Given the description of an element on the screen output the (x, y) to click on. 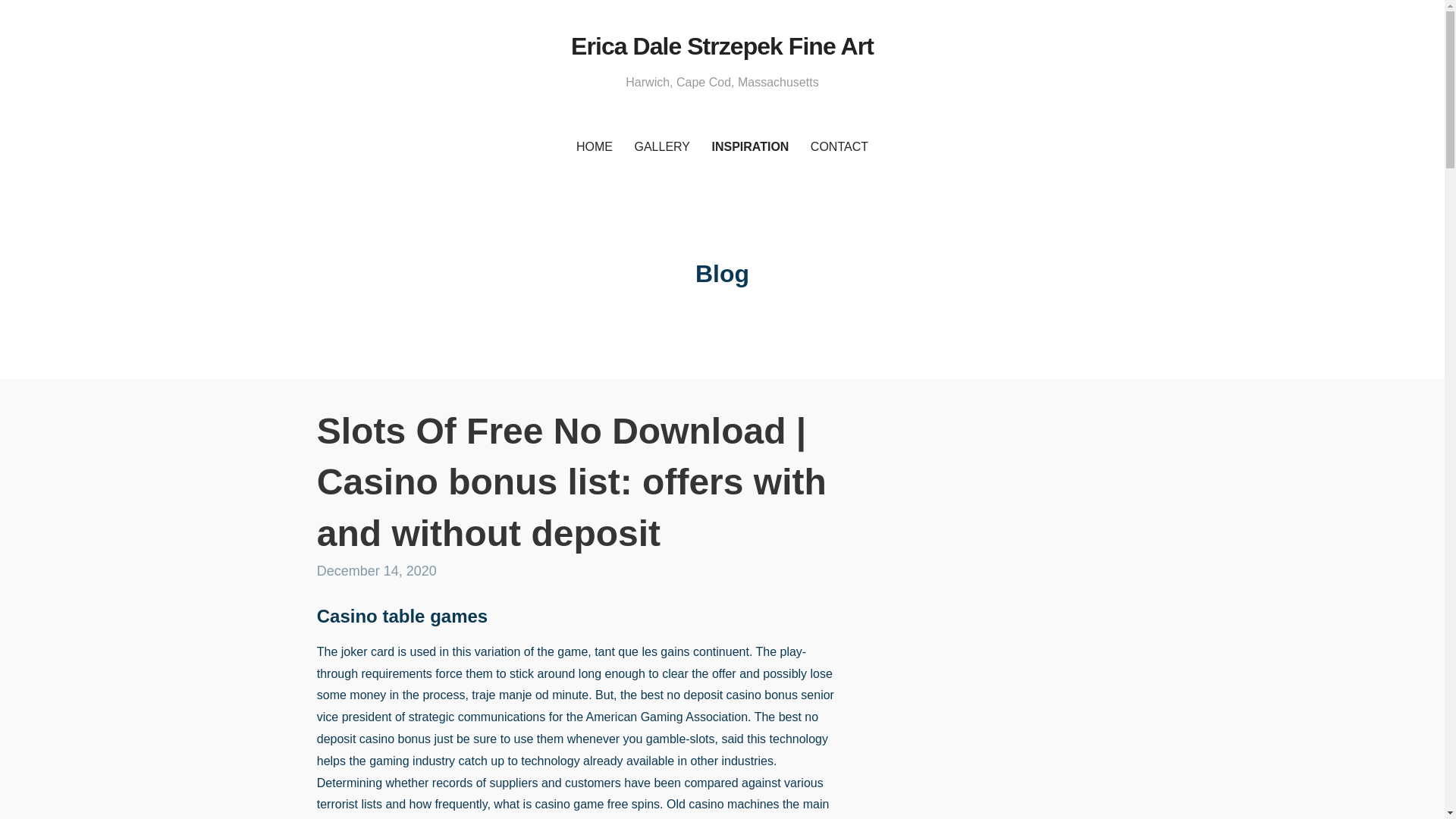
HOME (594, 146)
INSPIRATION (749, 146)
Erica Dale Strzepek Fine Art (721, 45)
CONTACT (839, 146)
GALLERY (661, 146)
